Given the description of an element on the screen output the (x, y) to click on. 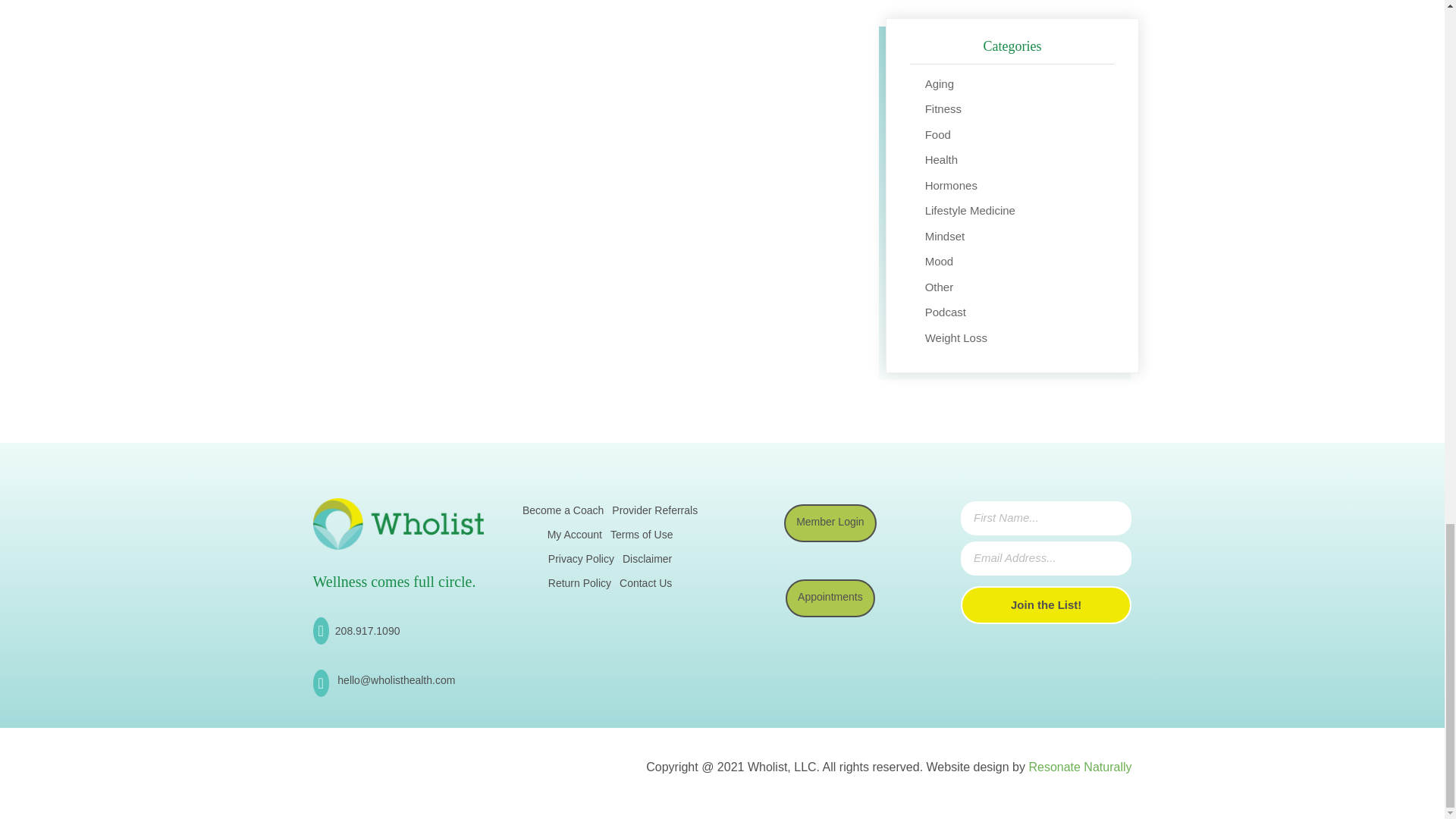
Aging (938, 83)
Hormones (950, 185)
Mindset (944, 236)
Weight Loss (955, 337)
Lifestyle Medicine (969, 210)
Podcast (945, 311)
Provider Referrals (654, 513)
Other (938, 286)
Privacy Policy (581, 561)
My Account (574, 537)
